Given the description of an element on the screen output the (x, y) to click on. 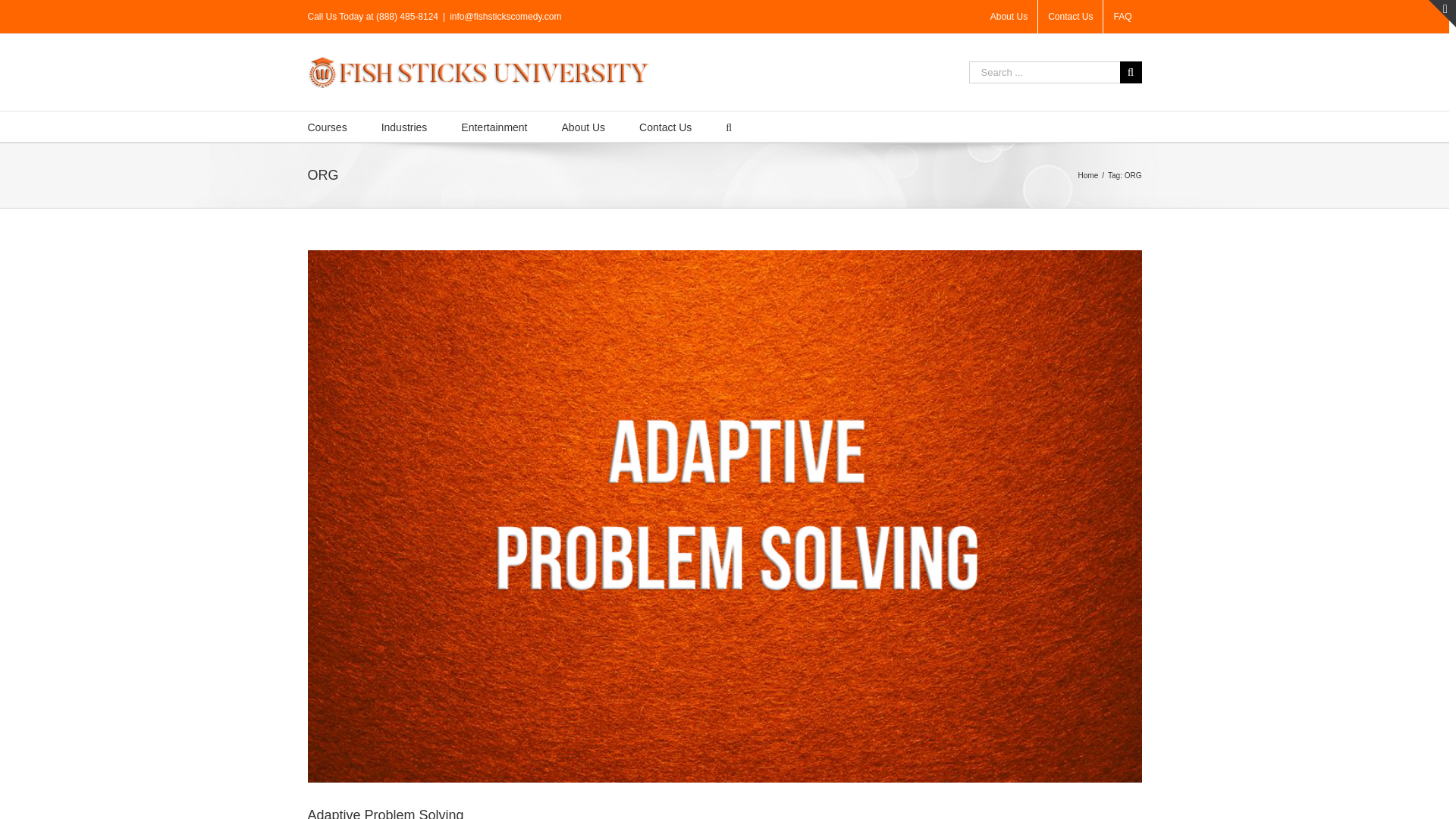
FAQ (1122, 16)
Courses (327, 126)
About Us (583, 126)
Industries (404, 126)
Entertainment (494, 126)
About Us (1007, 16)
Contact Us (665, 126)
Contact Us (1070, 16)
Home (1088, 175)
